Given the description of an element on the screen output the (x, y) to click on. 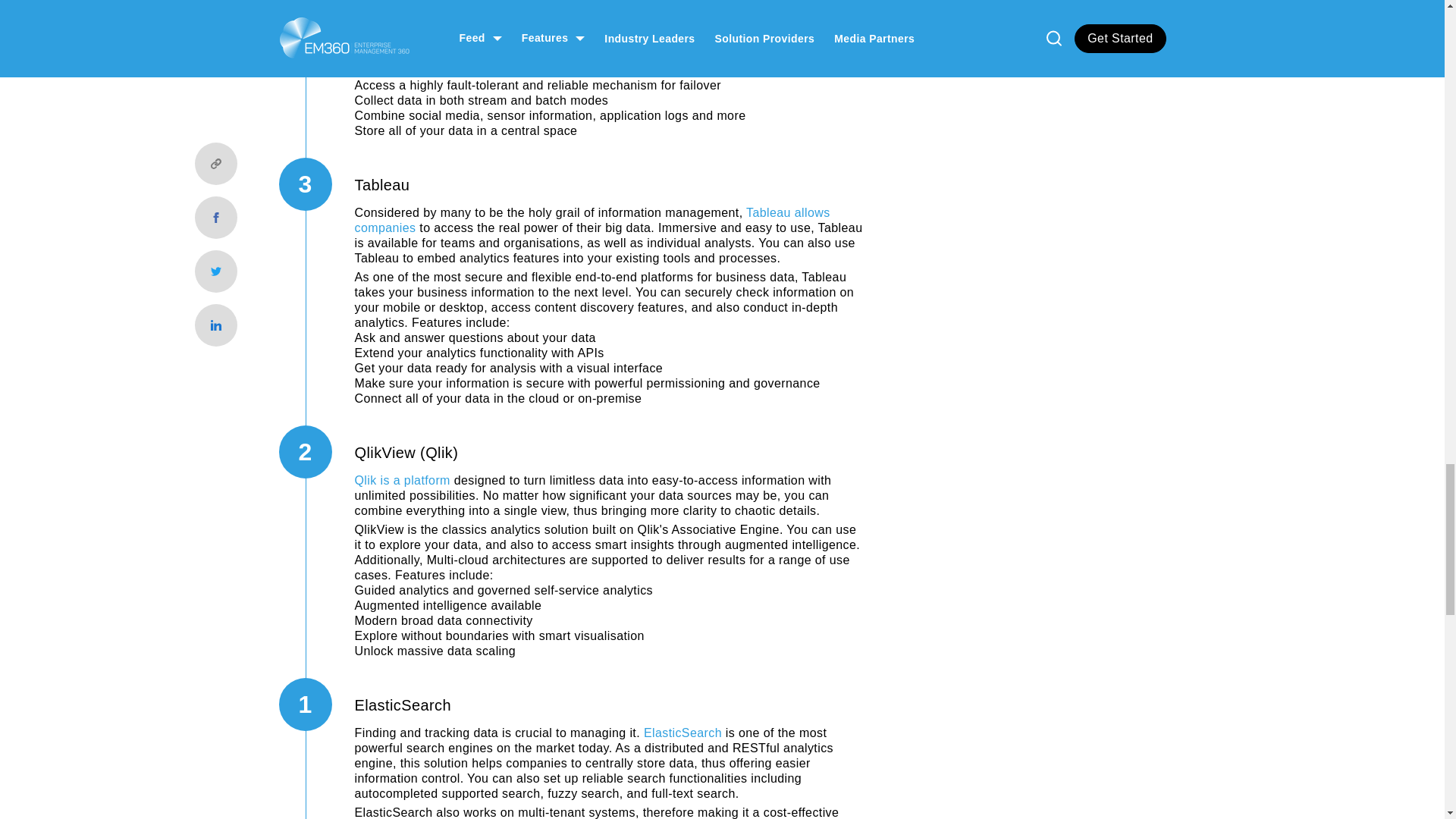
ElasticSearch (682, 732)
Tableau allows companies (592, 220)
Qlik is a platform (402, 480)
